Given the description of an element on the screen output the (x, y) to click on. 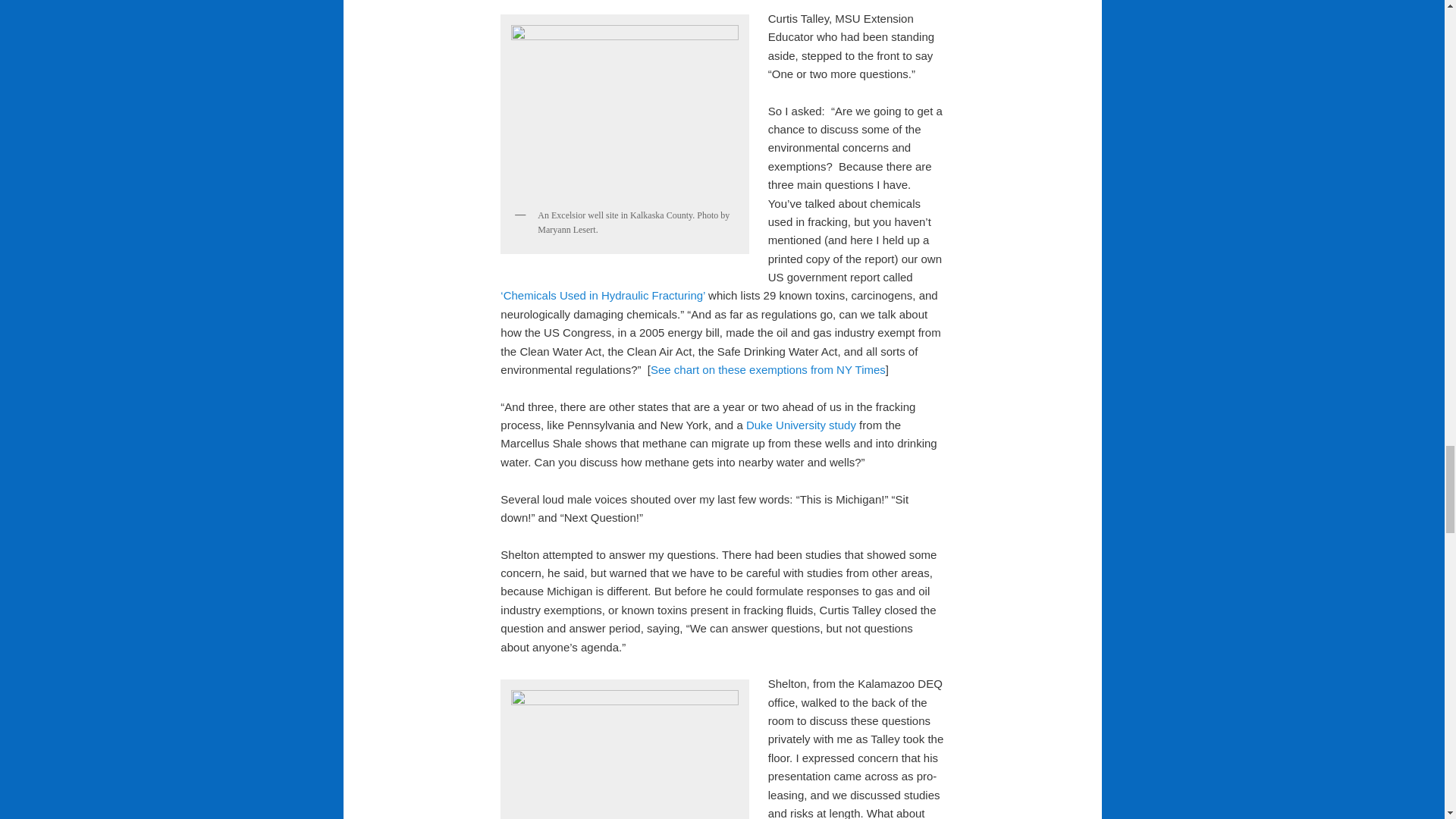
See chart on these exemptions from NY Times (767, 369)
Chemicals Used in Fracking report (602, 295)
NY Times interactive (767, 369)
Duke University study (800, 424)
